Given the description of an element on the screen output the (x, y) to click on. 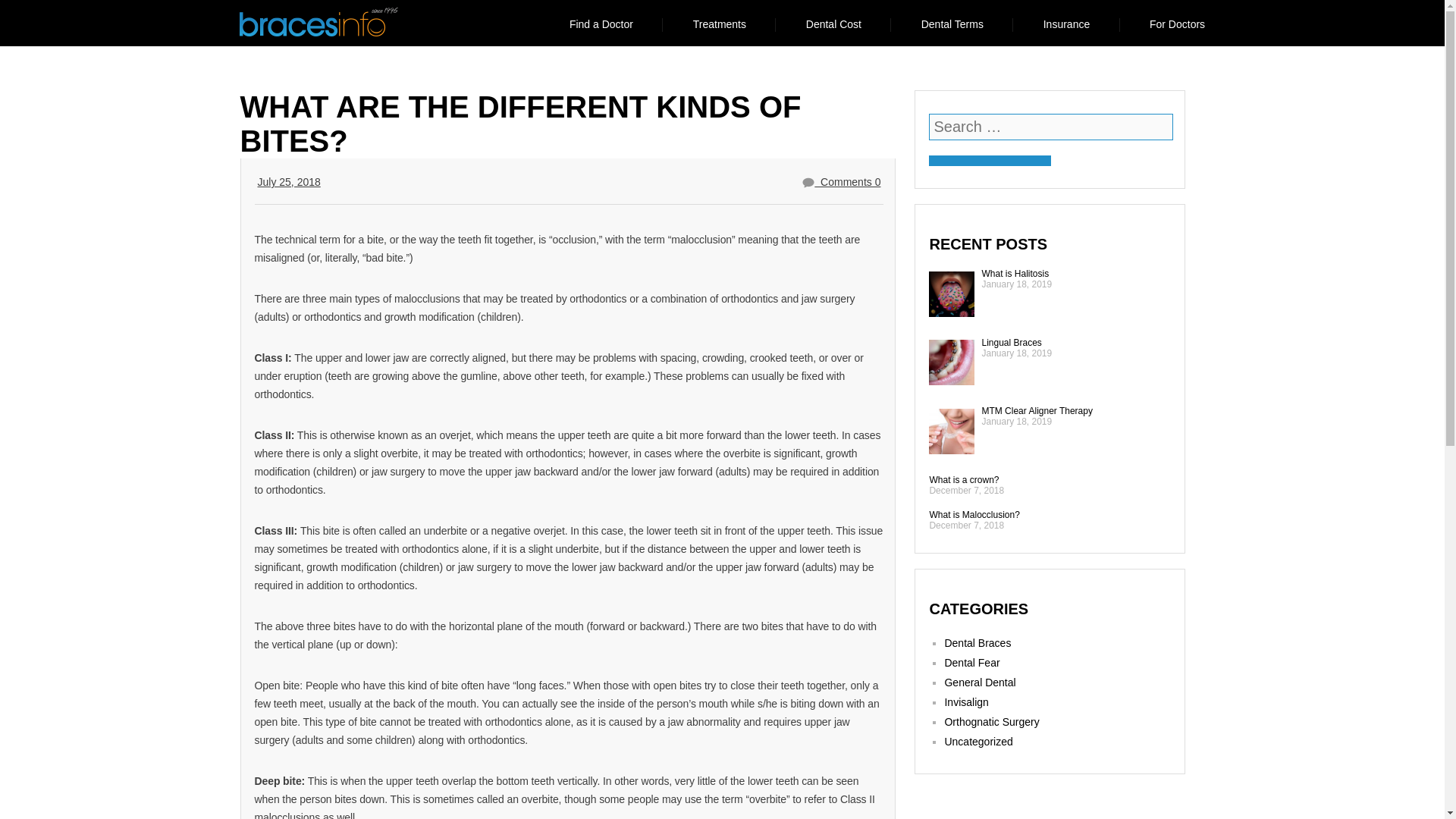
MTM Clear Aligner Therapy (1037, 410)
Insurance (1066, 24)
General Dental (978, 682)
  Comments 0 (841, 182)
Invisalign (965, 702)
July 25, 2018 (288, 182)
Treatments (719, 24)
Dental Braces (976, 643)
Dental Fear (970, 662)
What is a crown? (963, 480)
What is Halitosis (1014, 273)
For Doctors (1177, 24)
What is Malocclusion? (973, 514)
Dental Terms (952, 24)
SEARCH (989, 160)
